Given the description of an element on the screen output the (x, y) to click on. 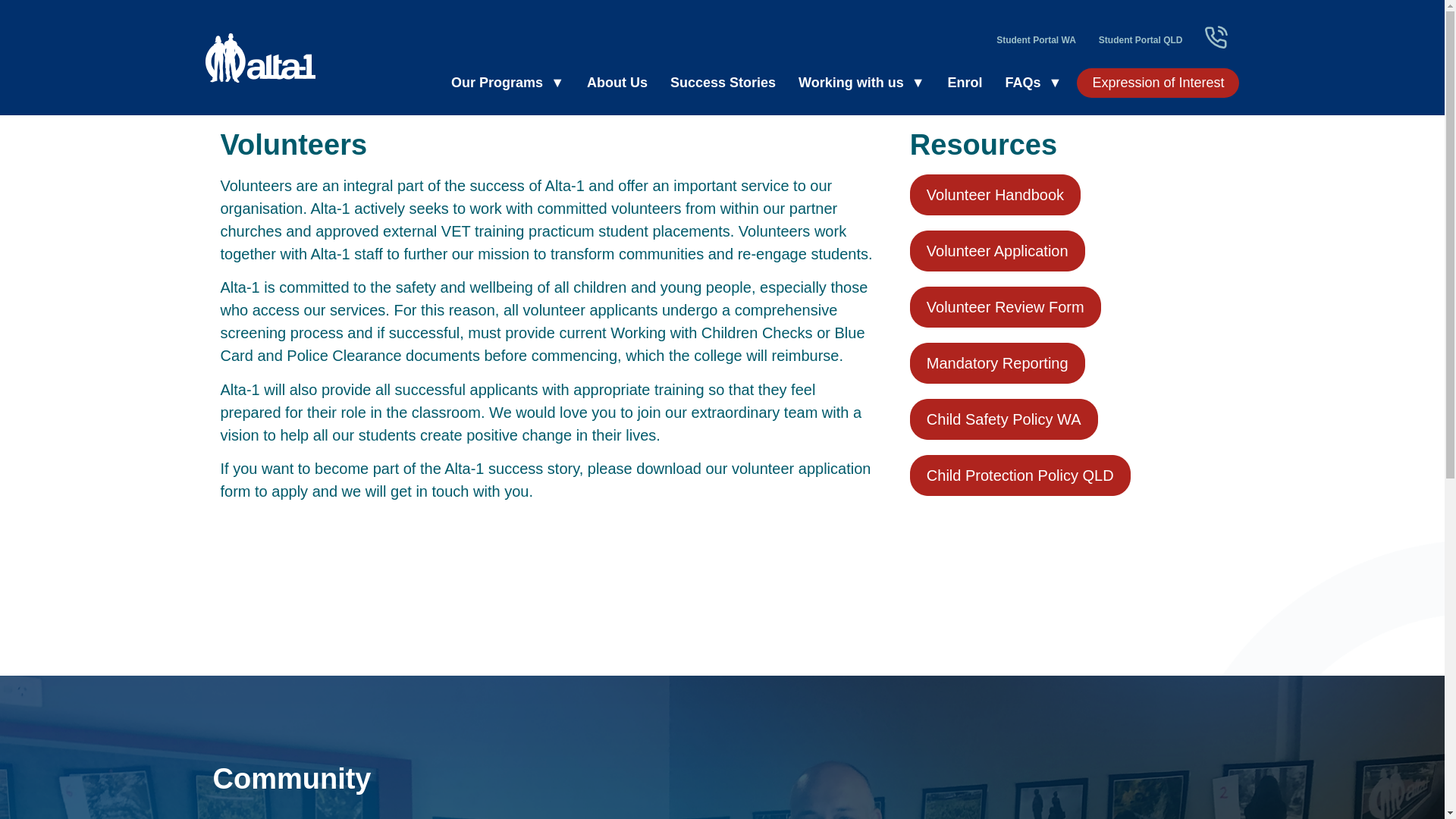
Our Programs (507, 82)
Success Stories (722, 82)
Student Portal WA (1035, 39)
Expression of Interest (1158, 82)
About Us (616, 82)
Working with us (860, 82)
FAQs (1034, 82)
Enrol (964, 82)
Student Portal QLD (1140, 39)
